Given the description of an element on the screen output the (x, y) to click on. 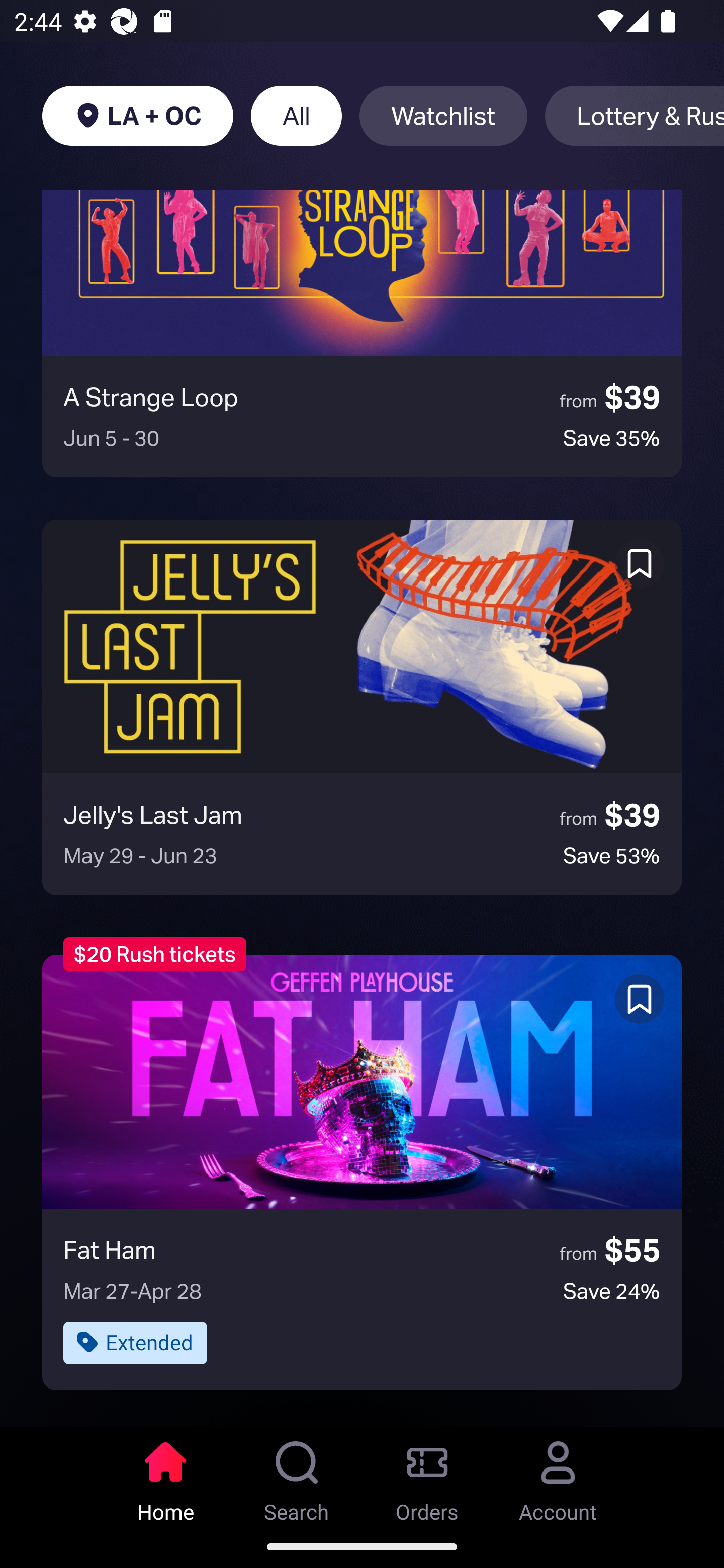
LA + OC (137, 115)
All (296, 115)
Watchlist (443, 115)
Lottery & Rush (634, 115)
A Strange Loop from $39 Jun 5 - 30 Save 35% (361, 332)
Jelly's Last Jam from $39 May 29 - Jun 23 Save 53% (361, 707)
Fat Ham from $55 Mar 27-Apr 28 Save 24% Extended (361, 1172)
Search (296, 1475)
Orders (427, 1475)
Account (558, 1475)
